Given the description of an element on the screen output the (x, y) to click on. 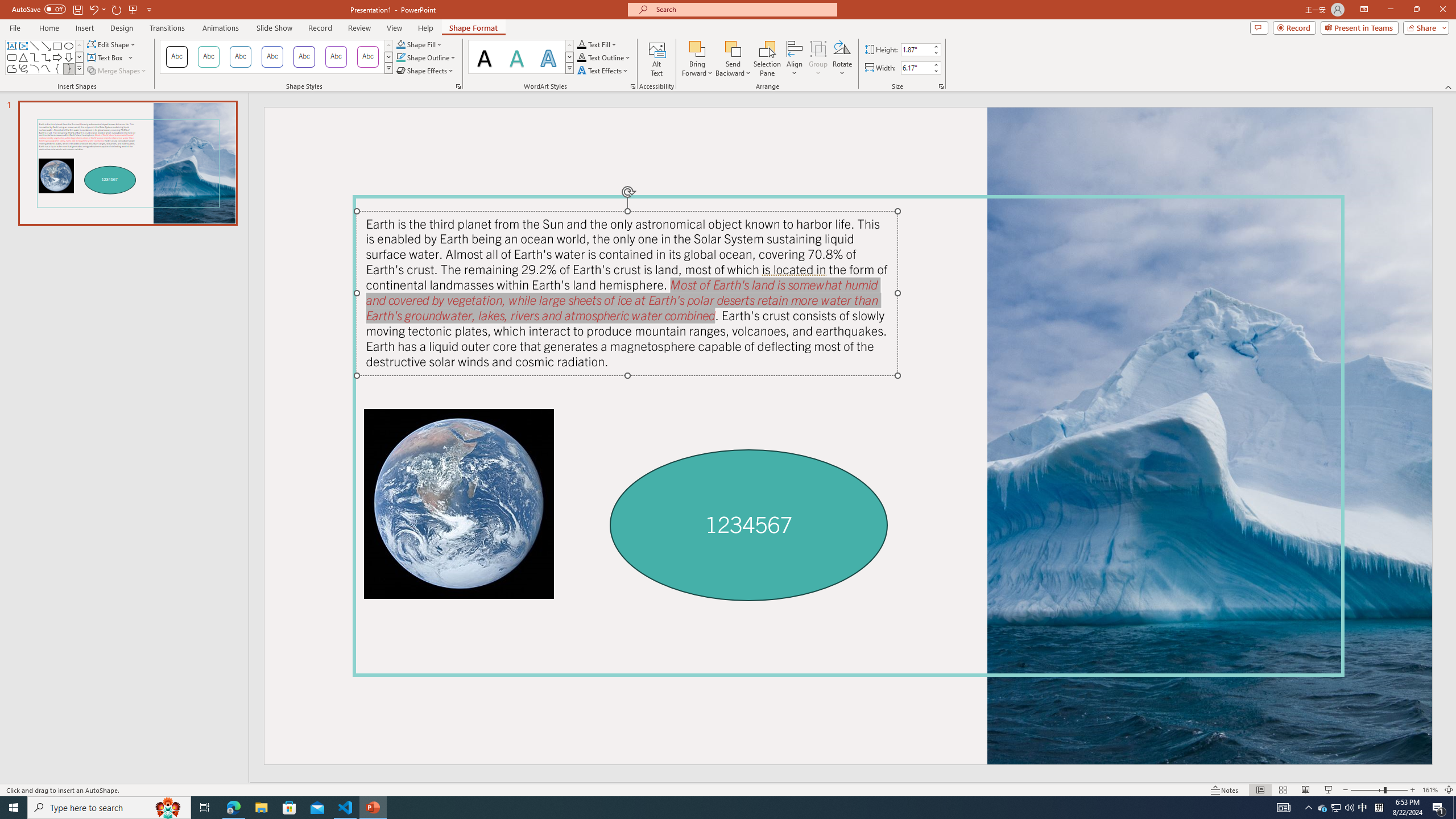
Shape Format (473, 28)
Undo (92, 9)
Save (77, 9)
Shape Height (915, 49)
Redo (117, 9)
Colored Outline - Purple, Accent 5 (336, 56)
Format Text Effects... (632, 85)
Group (817, 58)
Size and Position... (941, 85)
Vertical Text Box (23, 45)
AutomationID: ShapesInsertGallery (44, 57)
Shape Outline (426, 56)
Zoom In (1412, 790)
Insert (83, 28)
